Given the description of an element on the screen output the (x, y) to click on. 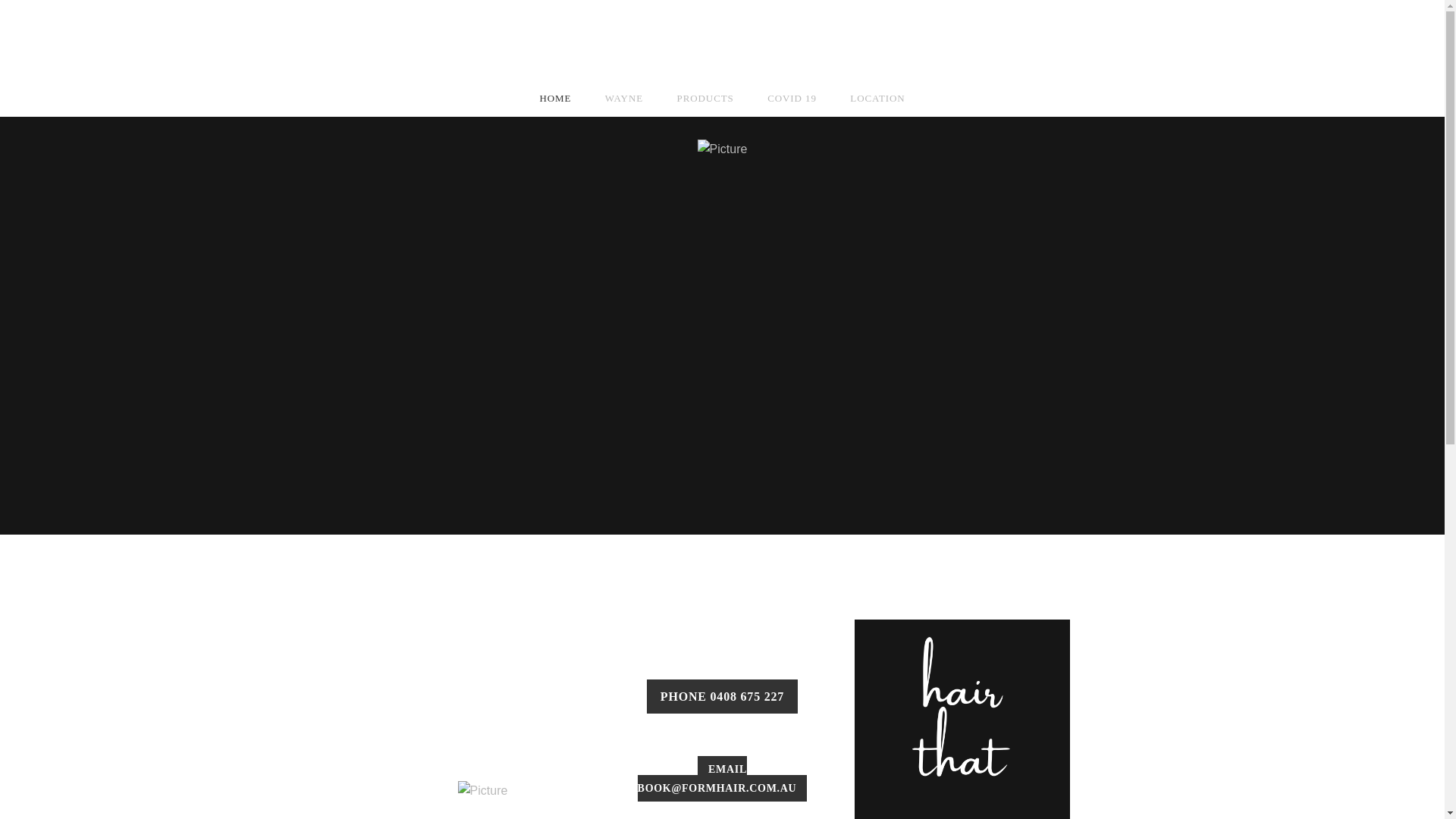
EMAIL BOOK@FORMHAIR.COM.AU Element type: text (722, 777)
PRODUCTS Element type: text (705, 98)
LOCATION Element type: text (877, 98)
PHONE 0408 675 227 Element type: text (721, 696)
HOME Element type: text (554, 98)
COVID 19 Element type: text (792, 98)
WAYNE Element type: text (623, 98)
